Given the description of an element on the screen output the (x, y) to click on. 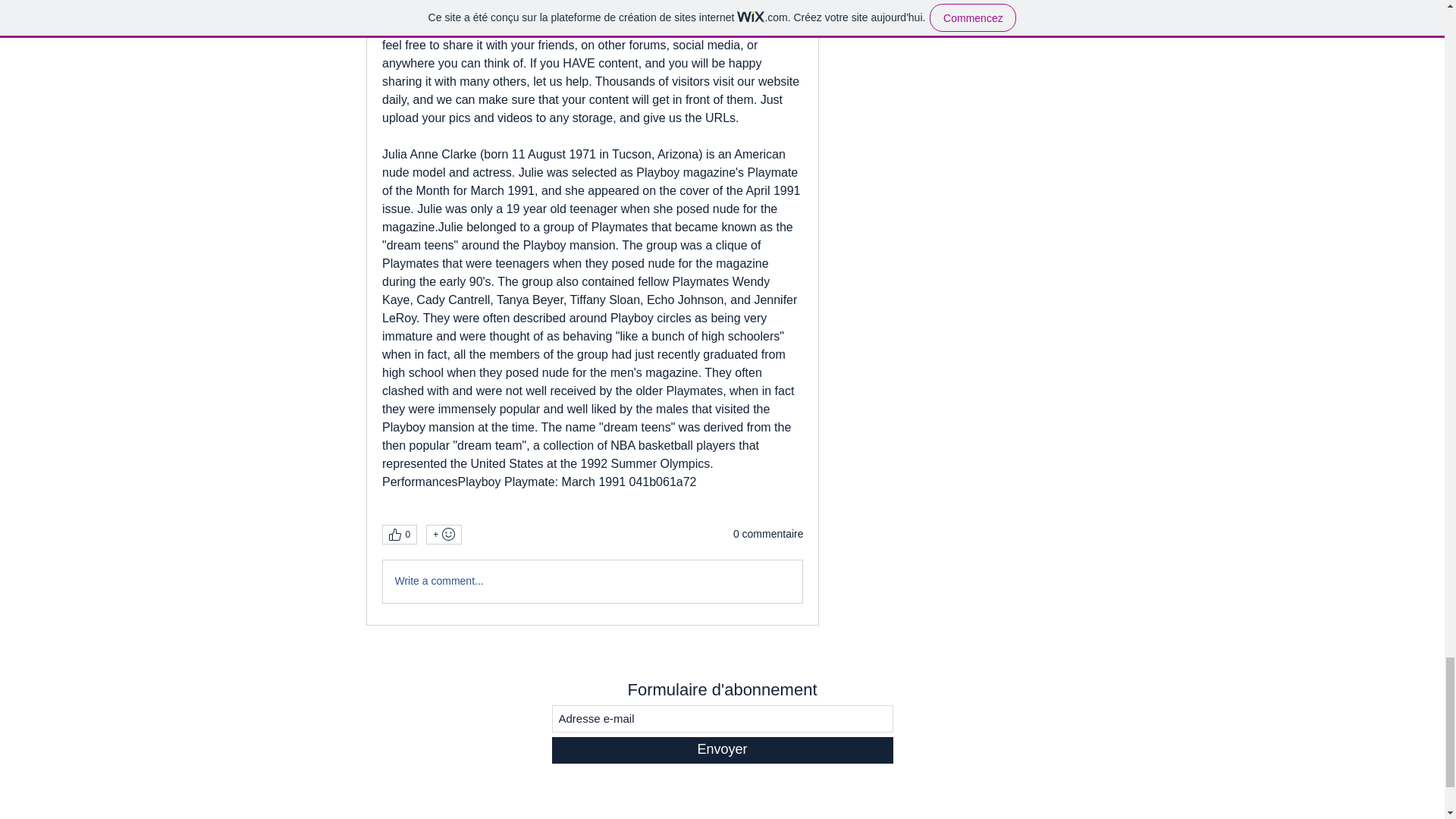
0 commentaire (768, 534)
Write a comment... (591, 581)
